Given the description of an element on the screen output the (x, y) to click on. 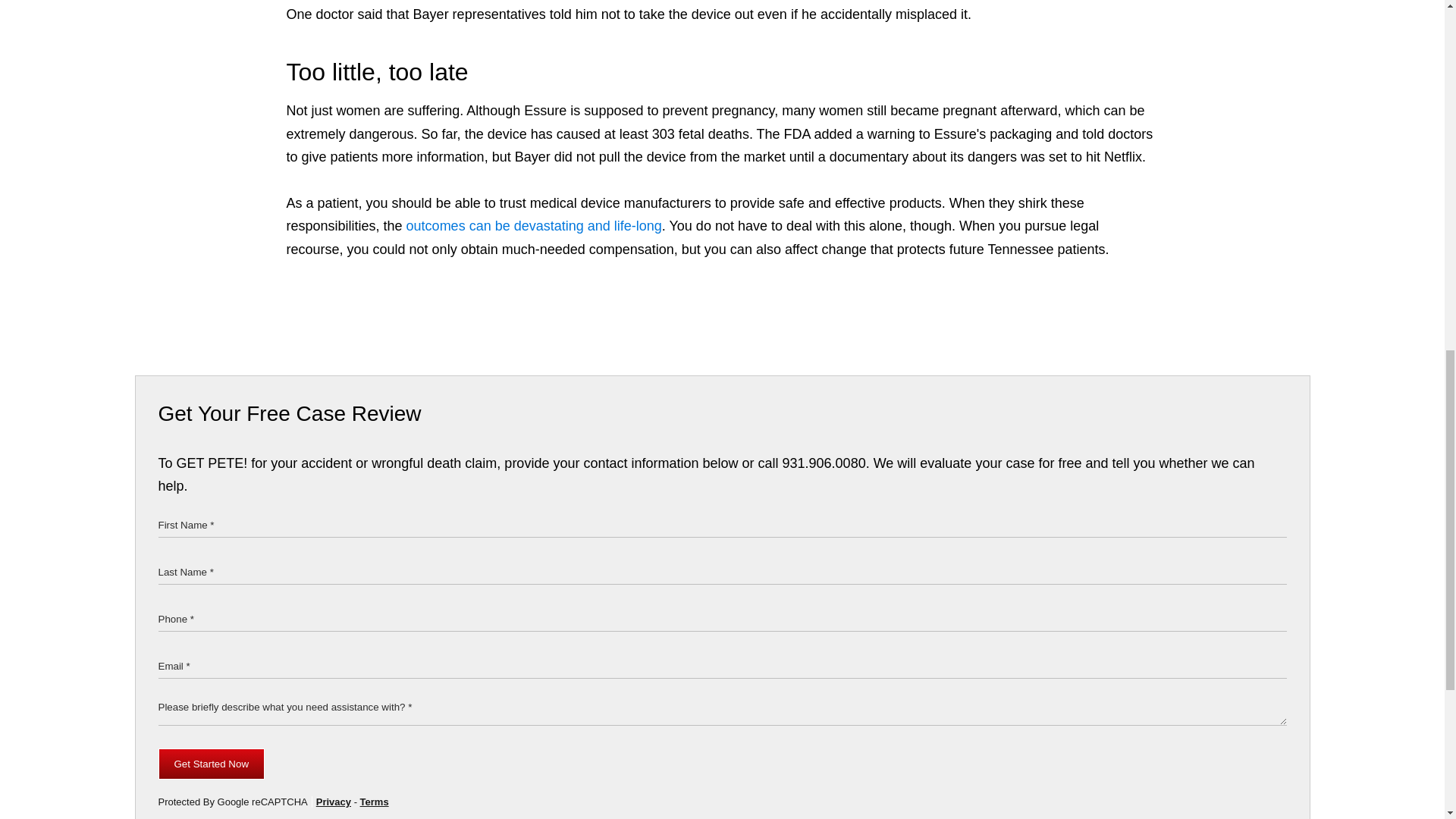
outcomes can be devastating and life-long (534, 225)
Get Started Now (210, 763)
Terms (373, 801)
Privacy (332, 801)
